Given the description of an element on the screen output the (x, y) to click on. 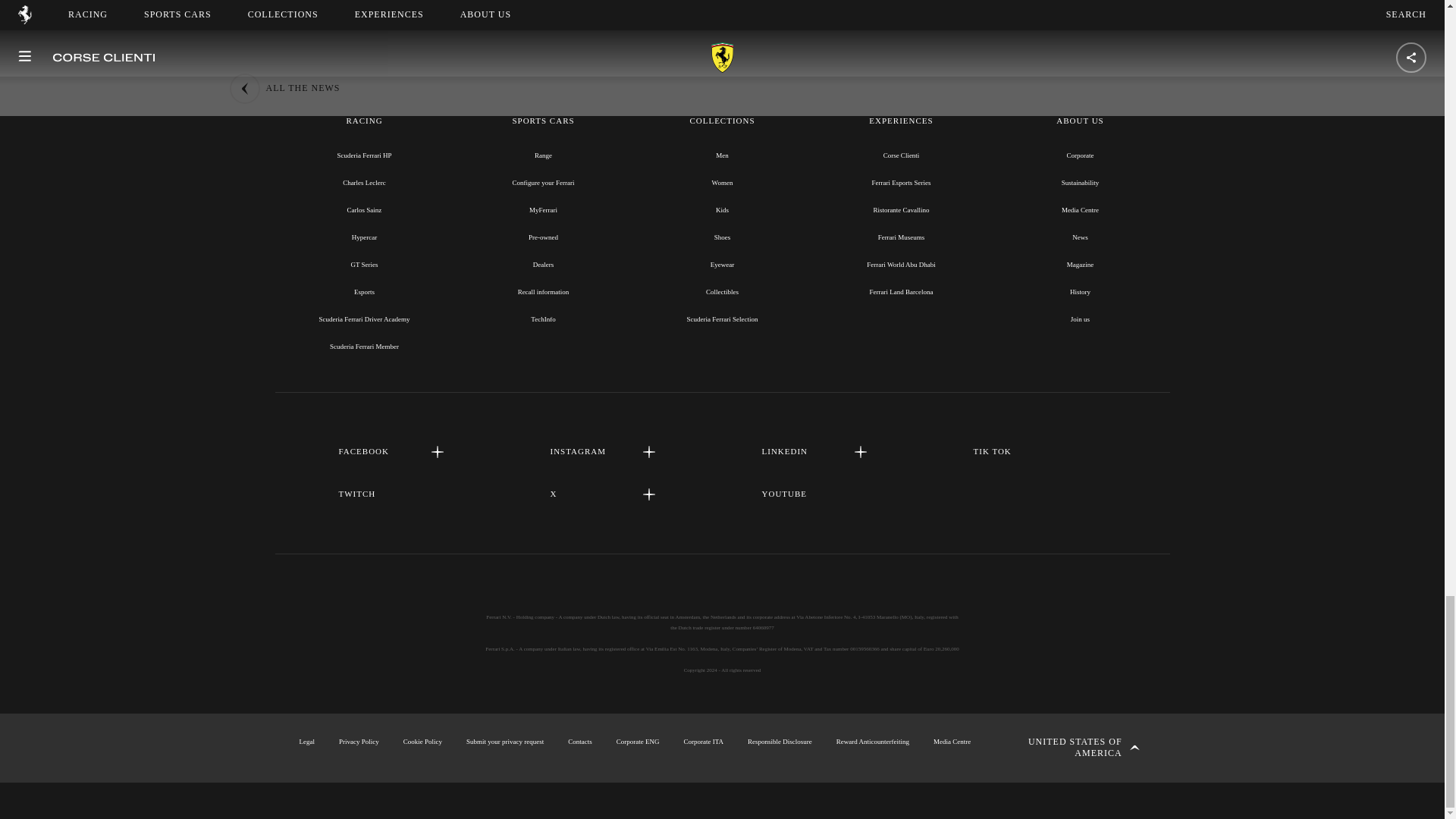
Scuderia Ferrari Member (364, 346)
Recall information (543, 291)
MyFerrari (543, 209)
Configure your Ferrari (543, 182)
SUBSCRIBE (721, 2)
Charles Leclerc (363, 182)
Range (542, 154)
Dealers (542, 264)
Change country (1072, 747)
GT Series (363, 264)
